Given the description of an element on the screen output the (x, y) to click on. 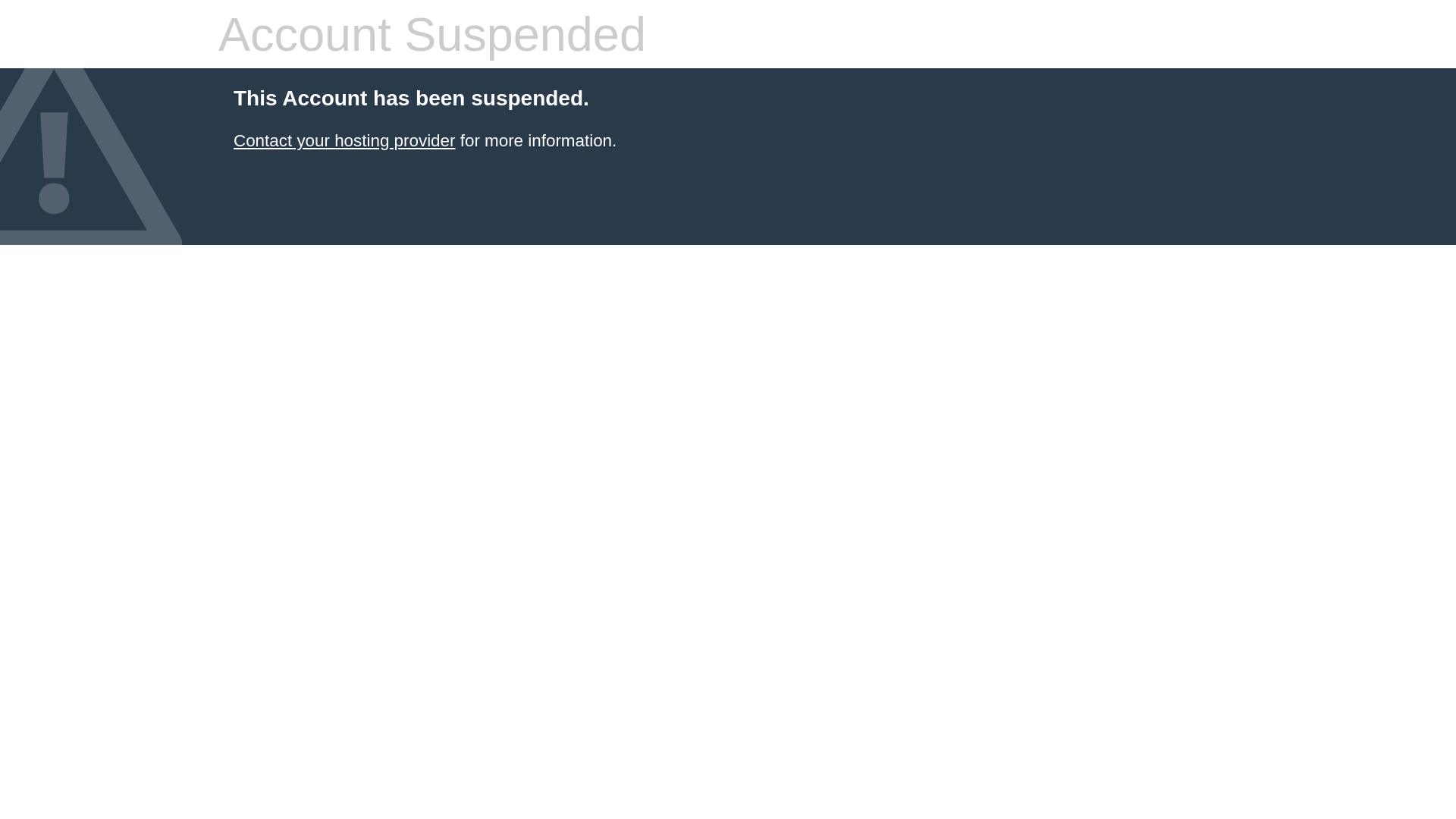
Contact your hosting provider Element type: text (344, 140)
